Given the description of an element on the screen output the (x, y) to click on. 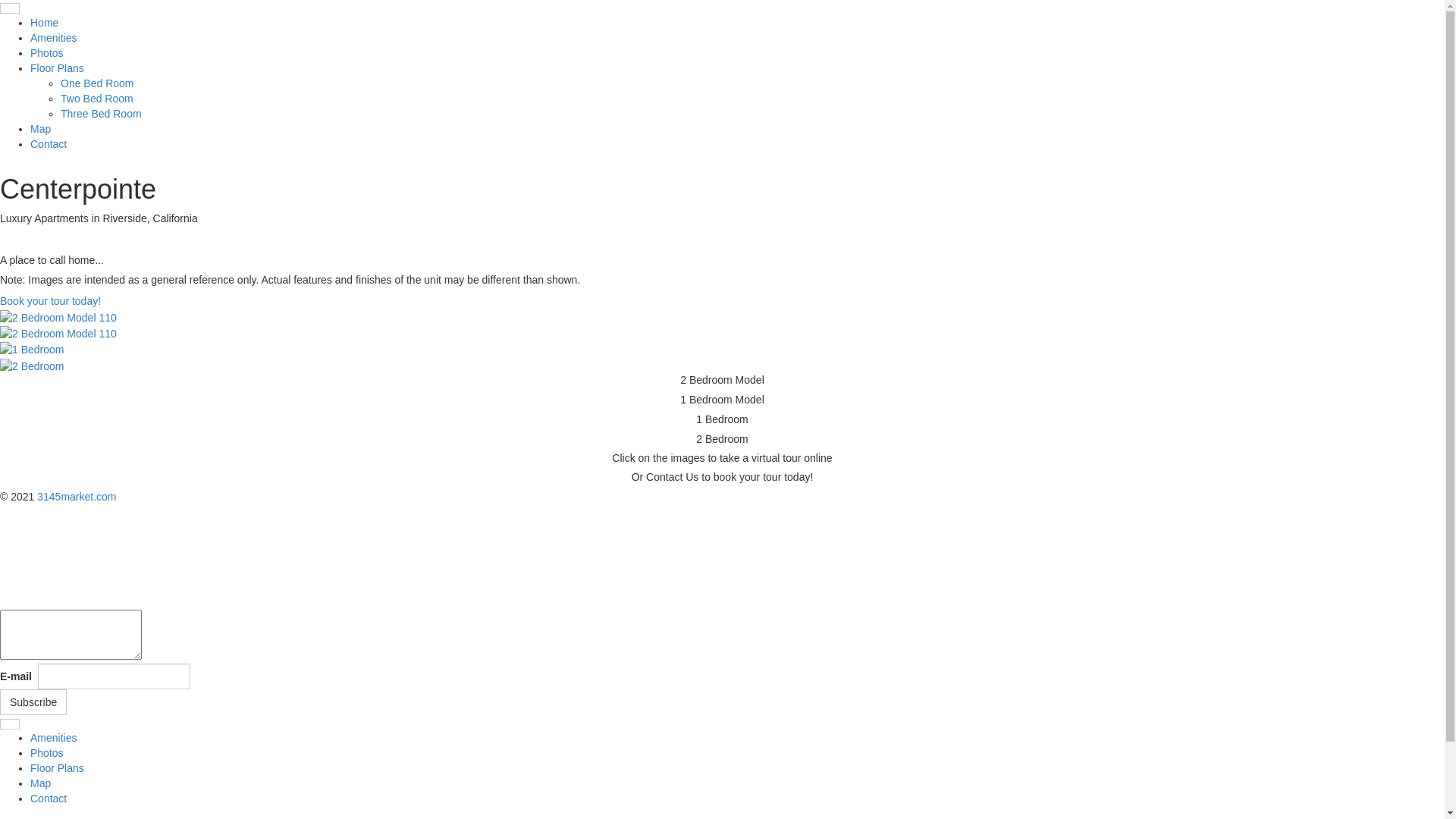
Home Element type: text (44, 22)
Subscribe Element type: text (33, 702)
One Bed Room Element type: text (97, 83)
Photos Element type: text (46, 53)
Map Element type: text (40, 783)
Floor Plans Element type: text (57, 68)
Floor Plans Element type: text (57, 768)
Map Element type: text (40, 128)
1 Bedroom  Element type: hover (722, 349)
3145market.com Element type: text (76, 496)
Contact Element type: text (48, 144)
2 Bedroom Element type: hover (722, 365)
Contact Element type: text (48, 798)
Three Bed Room Element type: text (100, 113)
Two Bed Room Element type: text (96, 98)
Amenities Element type: text (53, 737)
2 Bedroom Model 110  Element type: hover (722, 333)
Amenities Element type: text (53, 37)
2 Bedroom Model 110  Element type: hover (722, 316)
Book your tour today! Element type: text (50, 300)
Photos Element type: text (46, 752)
